Given the description of an element on the screen output the (x, y) to click on. 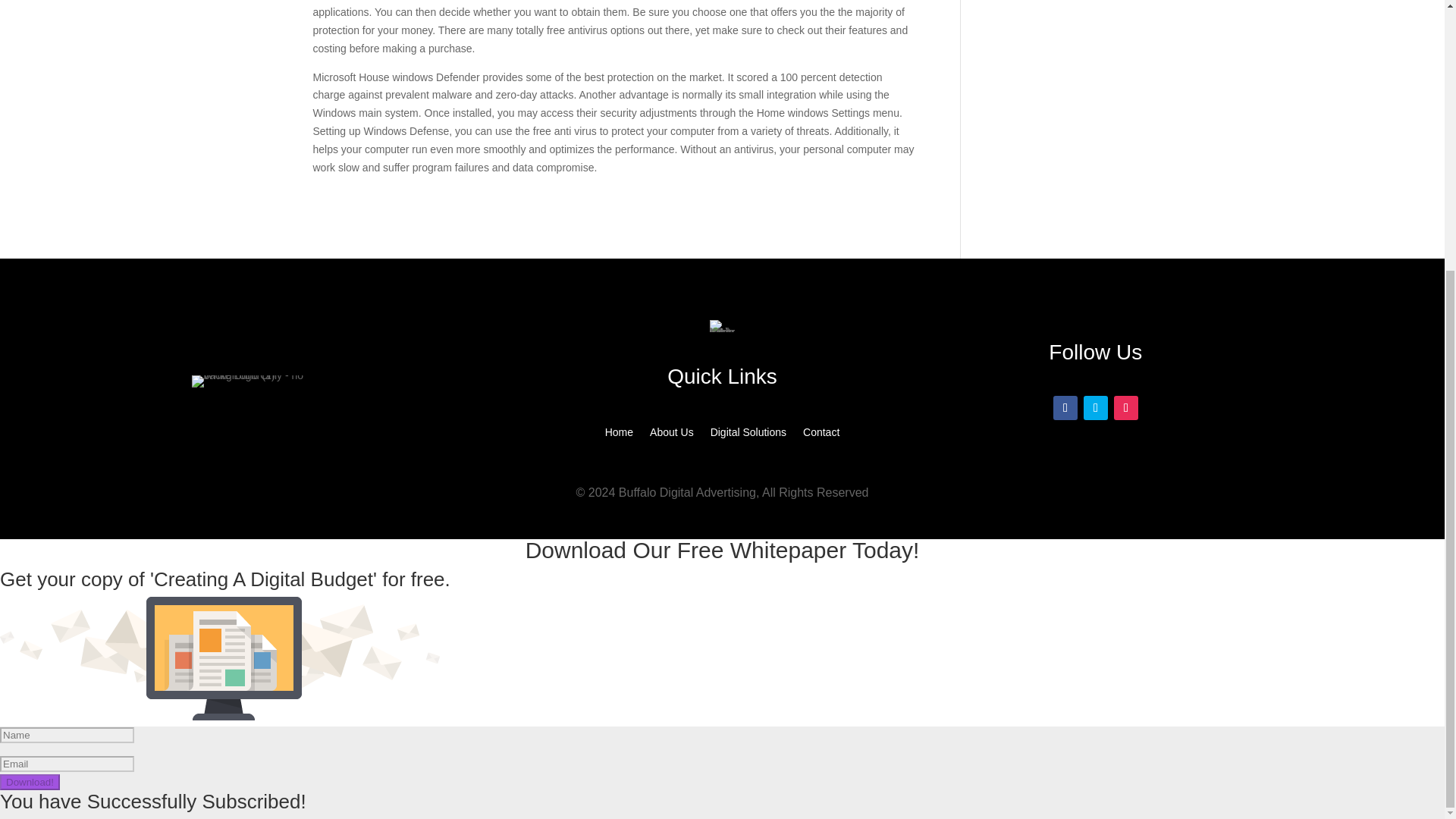
Follow on Instagram (1125, 407)
Follow on Twitter (1095, 407)
Download! (29, 781)
Contact (821, 434)
About Us (671, 434)
Digital Solutions (748, 434)
Home (619, 434)
Follow on Facebook (1064, 407)
